Given the description of an element on the screen output the (x, y) to click on. 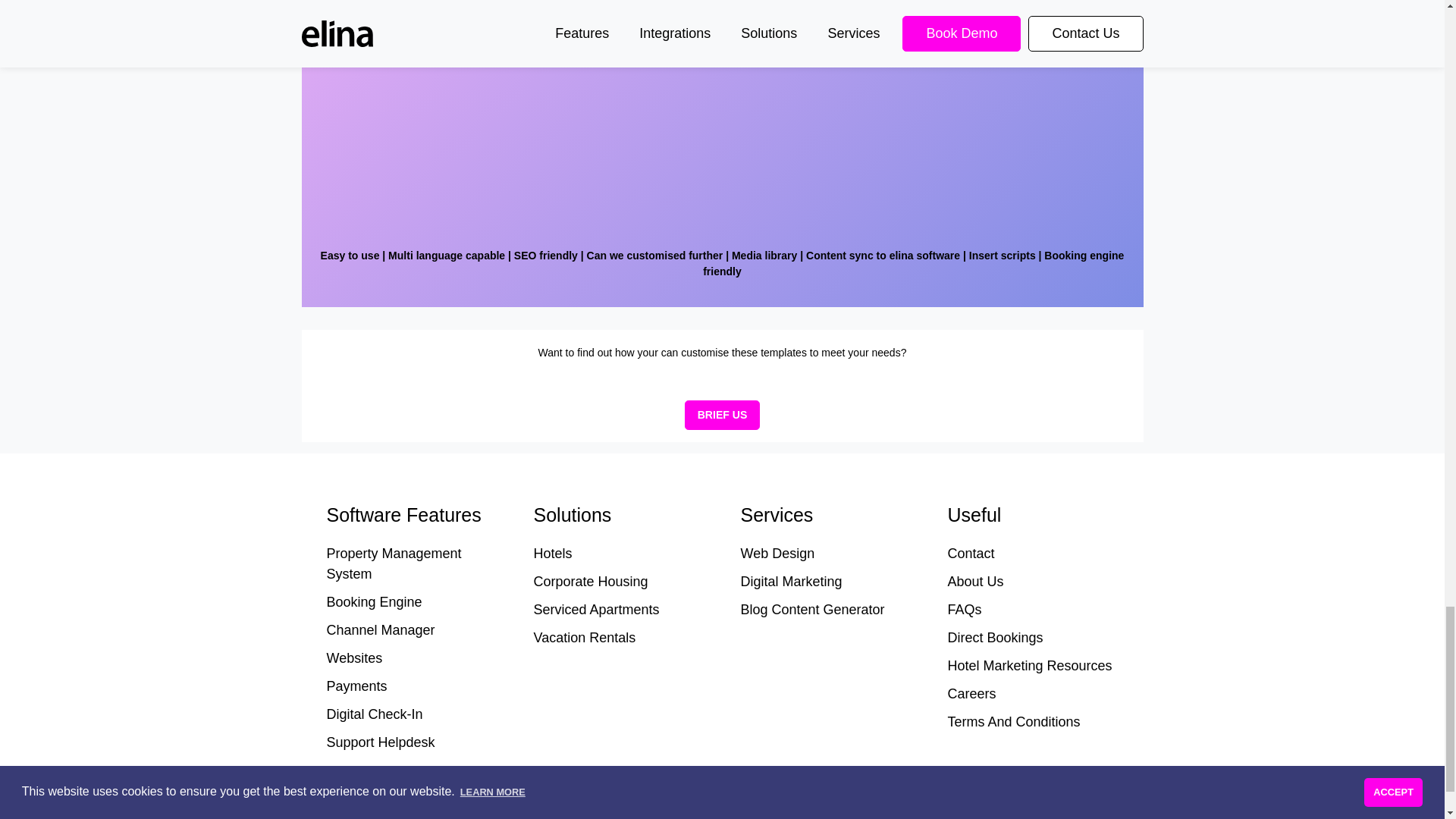
Booking Engine (374, 601)
Channel Manager (379, 630)
BRIEF US (722, 414)
Digital Check-In (374, 713)
Software Features (411, 514)
Payments (356, 685)
Websites (353, 657)
Property Management System (393, 563)
